Given the description of an element on the screen output the (x, y) to click on. 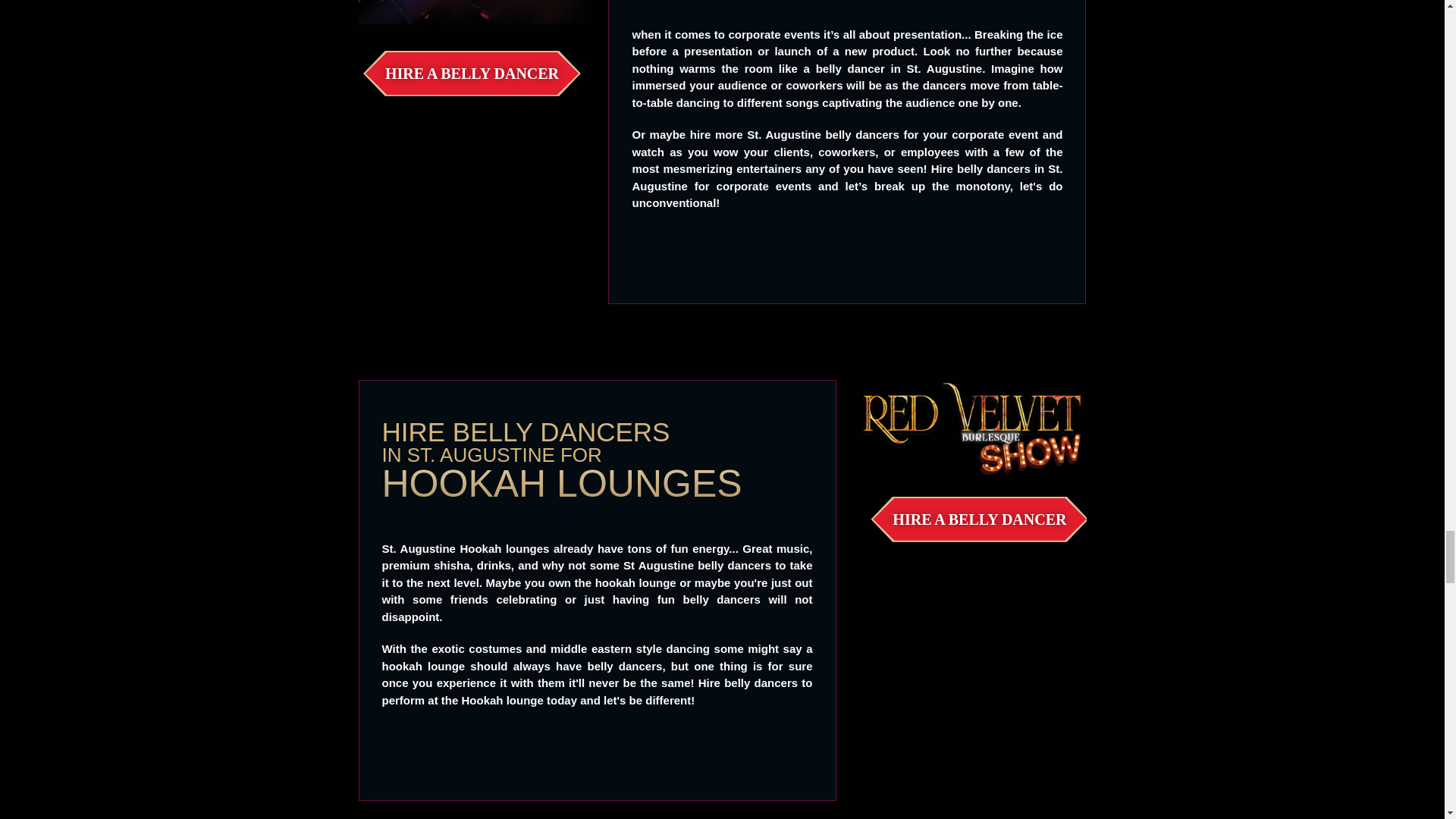
HIRE A BELLY DANCER (979, 518)
HIRE A BELLY DANCER (471, 73)
